Given the description of an element on the screen output the (x, y) to click on. 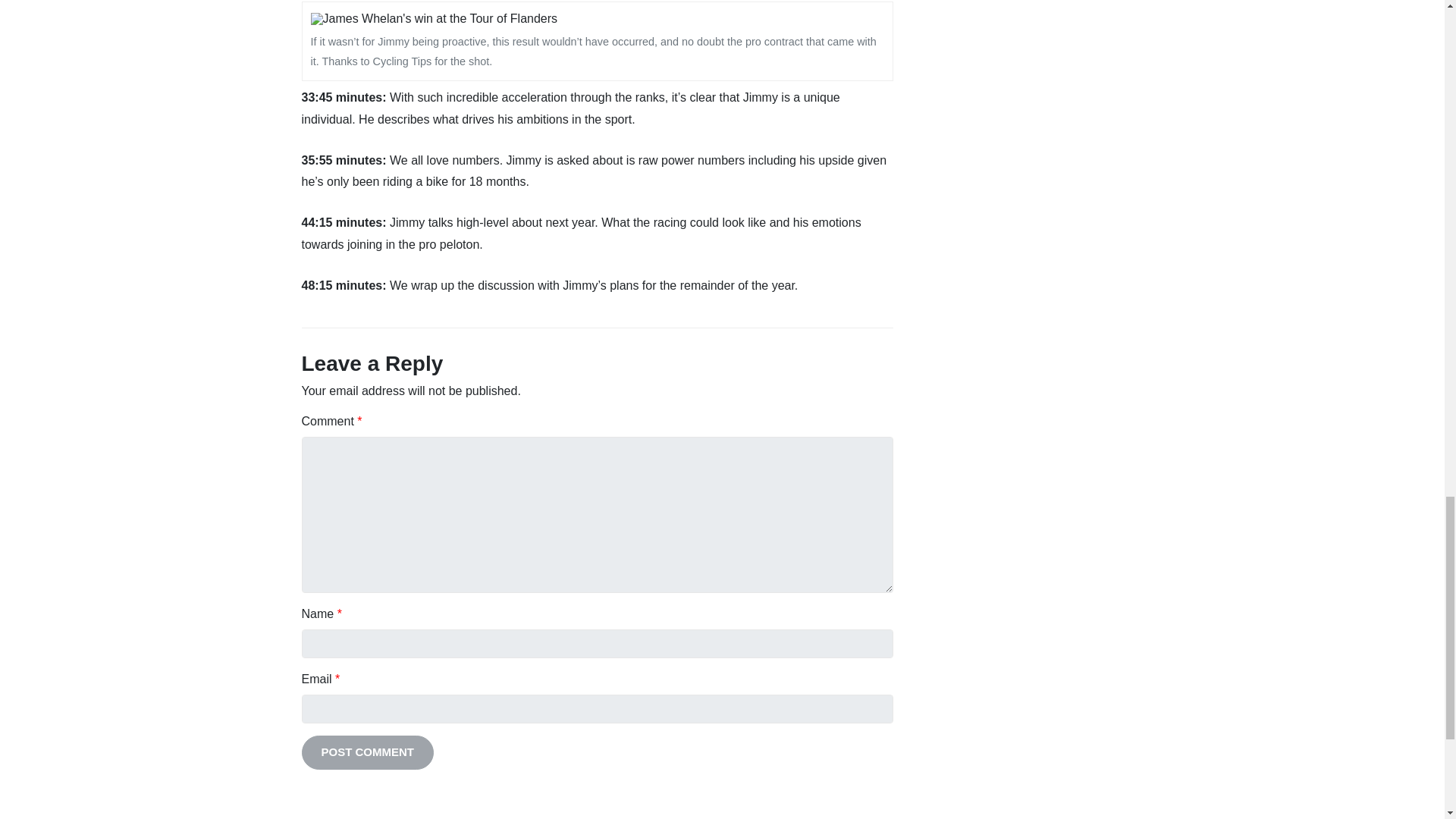
Post Comment (367, 752)
Post Comment (367, 752)
